Given the description of an element on the screen output the (x, y) to click on. 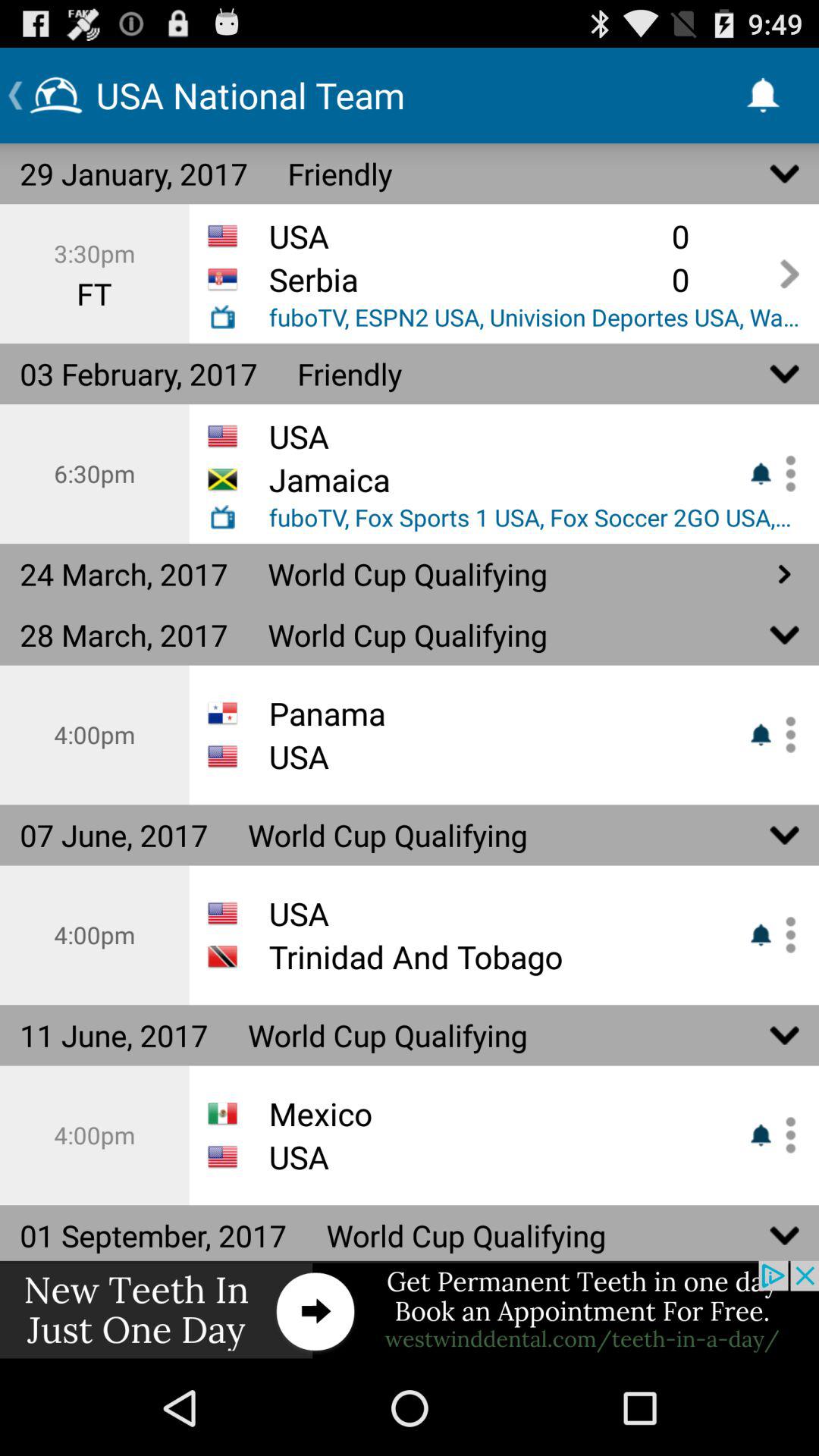
enable or disable notifications (785, 934)
